Given the description of an element on the screen output the (x, y) to click on. 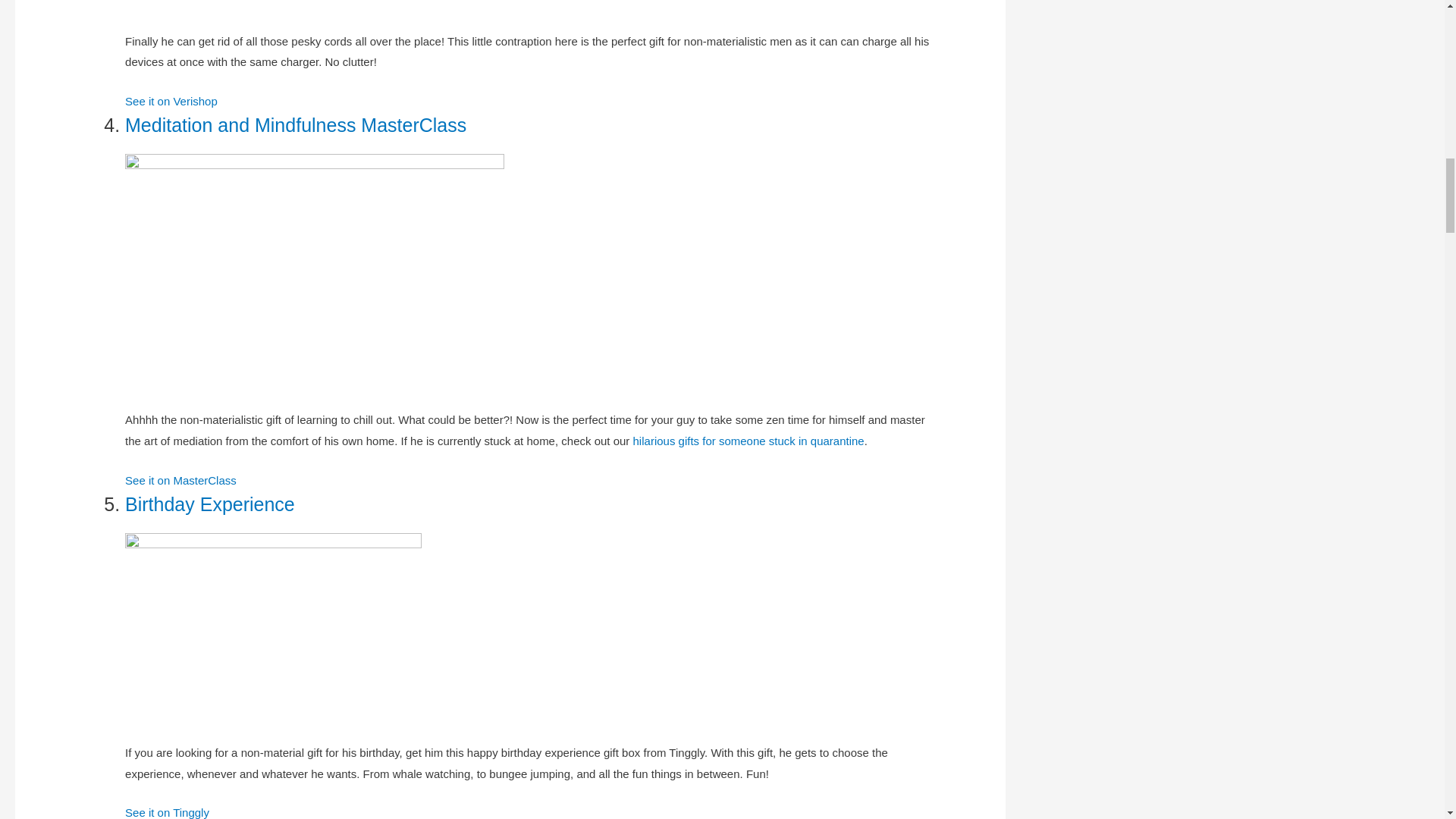
See it on MasterClass (180, 480)
See it on Tinggly (167, 812)
See it on Verishop (170, 101)
Birthday Experience (210, 504)
hilarious gifts for someone stuck in quarantine (748, 440)
Meditation and Mindfulness MasterClass (295, 124)
